Given the description of an element on the screen output the (x, y) to click on. 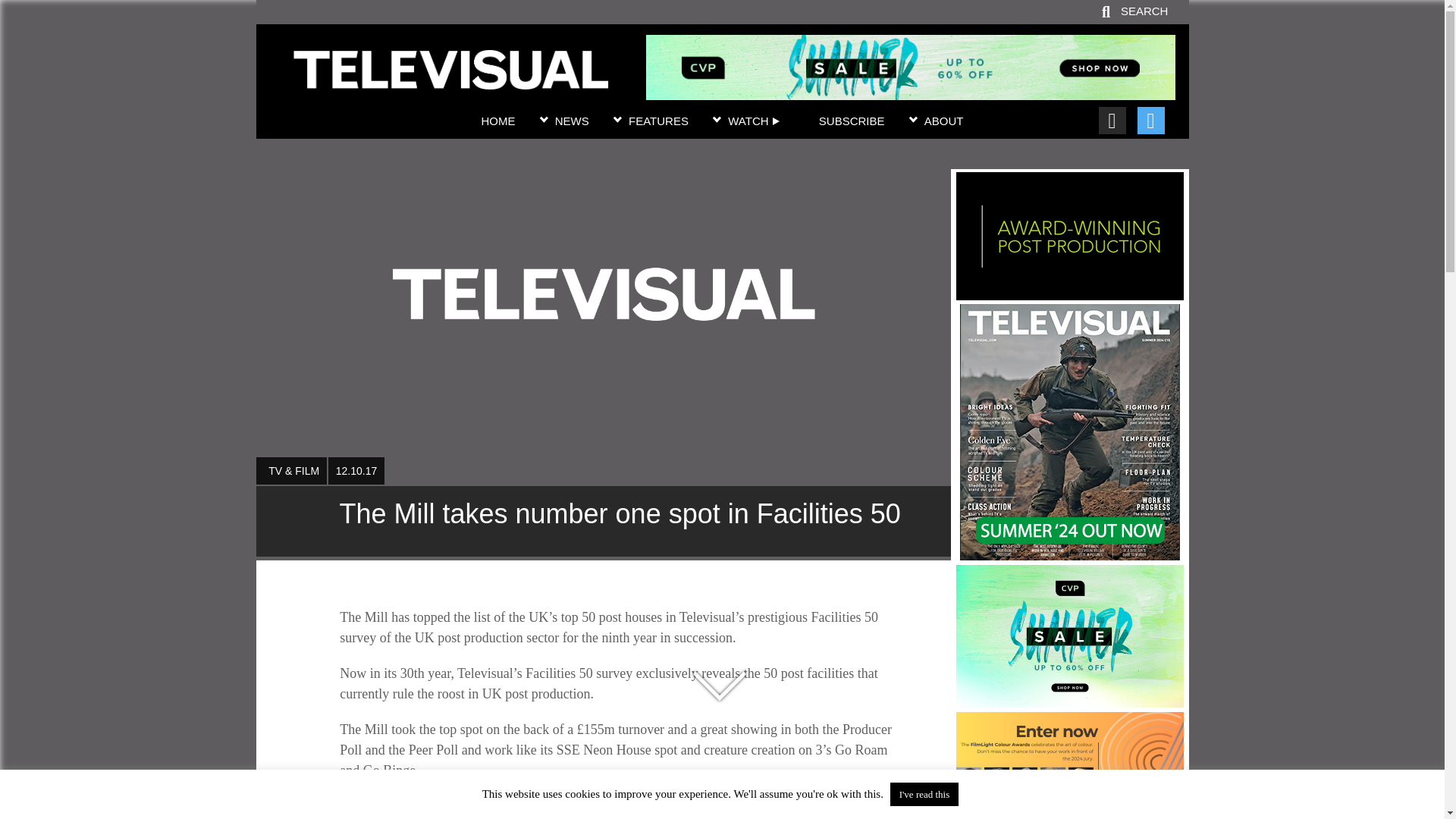
NEWS (571, 121)
FEATURES (658, 121)
HOME (497, 121)
The Mill takes number one spot in Facilities 50 (603, 521)
12.10.17 (356, 470)
WATCH (753, 121)
ABOUT (943, 121)
SUBSCRIBE (851, 121)
The Mill takes number one spot in Facilities 50 (451, 80)
